Given the description of an element on the screen output the (x, y) to click on. 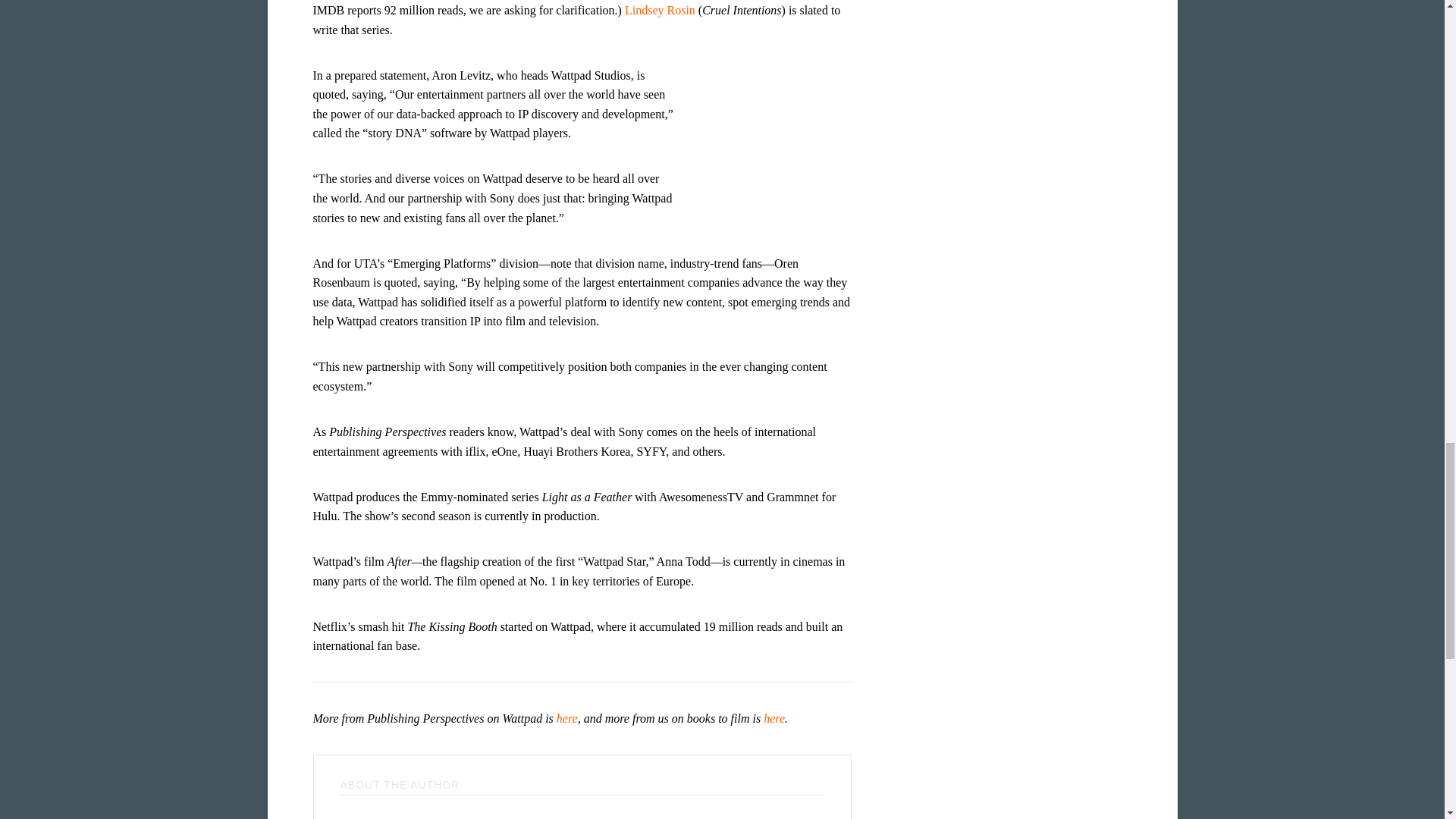
Lindsey Rosin (659, 10)
here (773, 717)
here (567, 717)
